Given the description of an element on the screen output the (x, y) to click on. 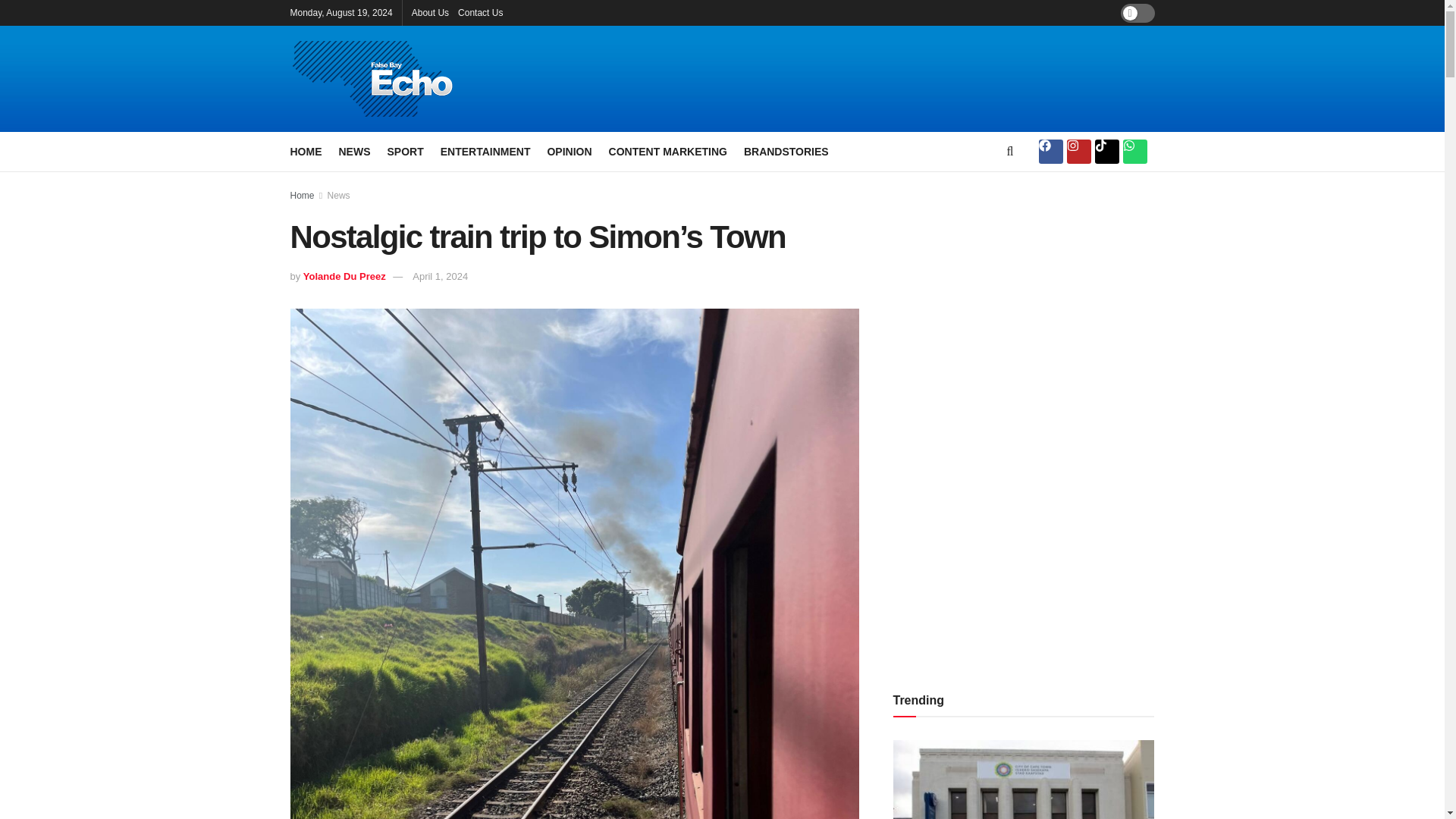
About Us (430, 12)
OPINION (569, 151)
Yolande Du Preez (343, 276)
News (338, 195)
3rd party ad content (888, 79)
BRANDSTORIES (786, 151)
CONTENT MARKETING (667, 151)
Contact Us (480, 12)
SPORT (405, 151)
April 1, 2024 (439, 276)
